Given the description of an element on the screen output the (x, y) to click on. 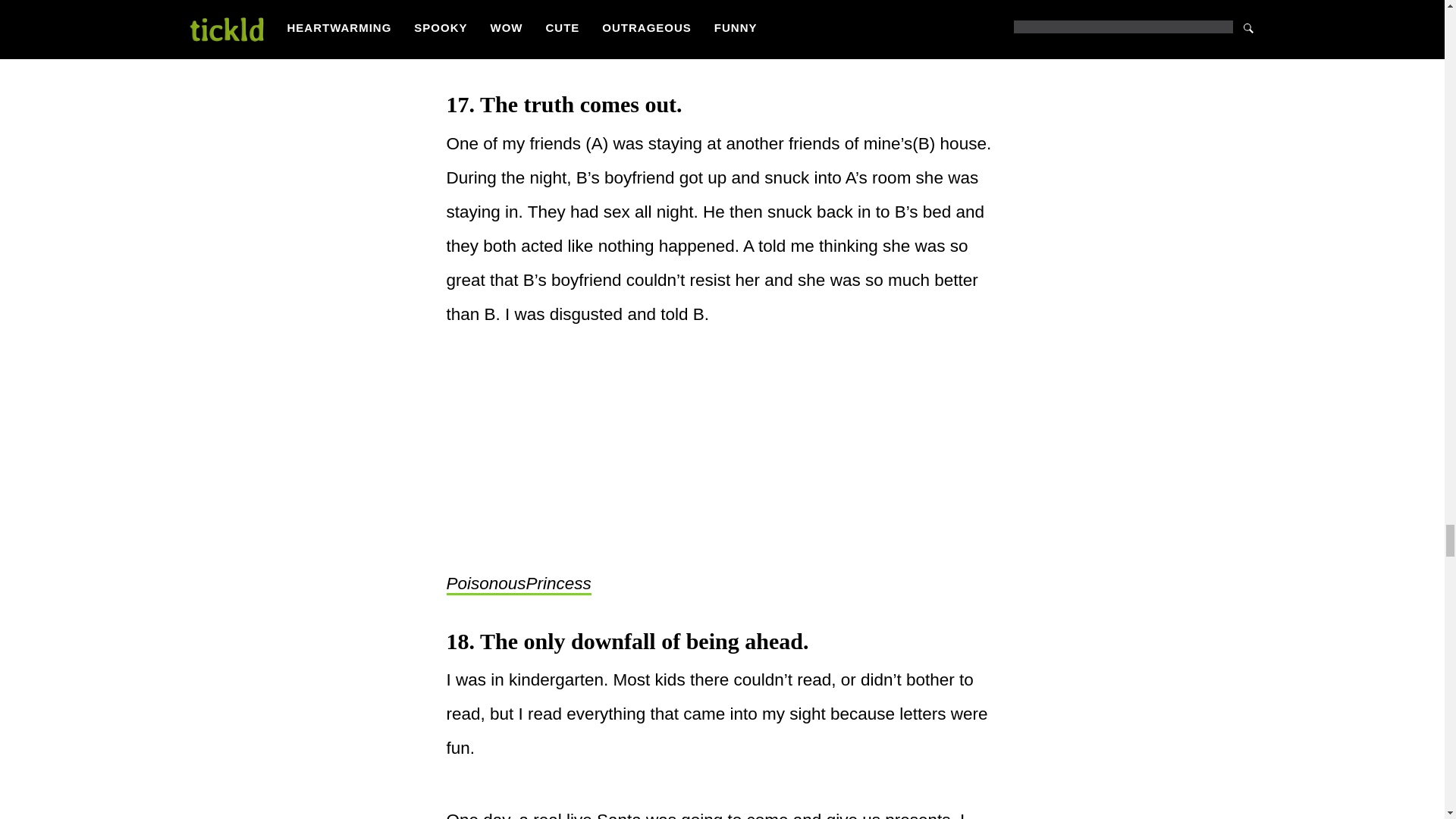
Fatheraabed (494, 47)
PoisonousPrincess (518, 584)
